Given the description of an element on the screen output the (x, y) to click on. 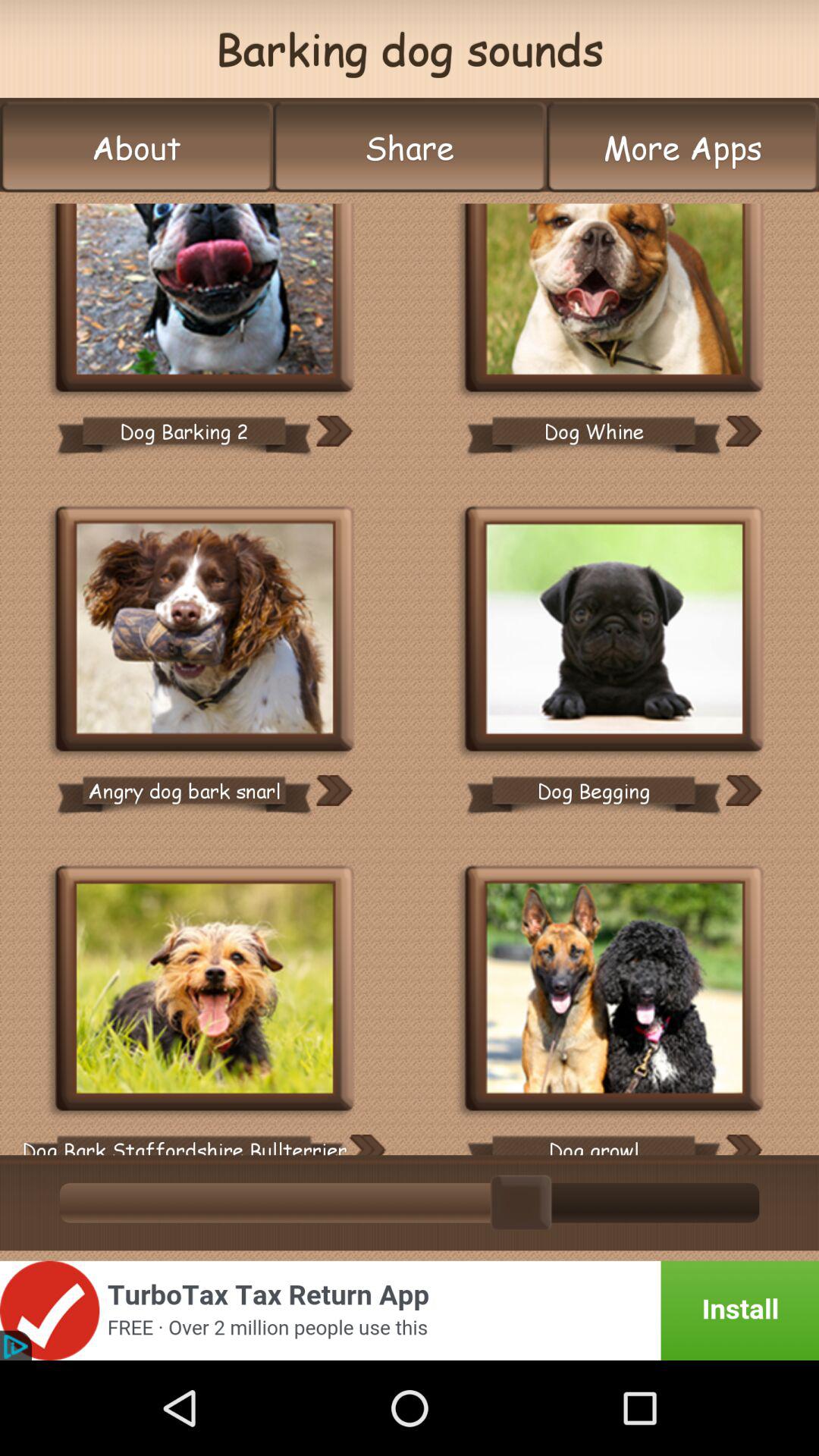
play dog begging sound (613, 630)
